Given the description of an element on the screen output the (x, y) to click on. 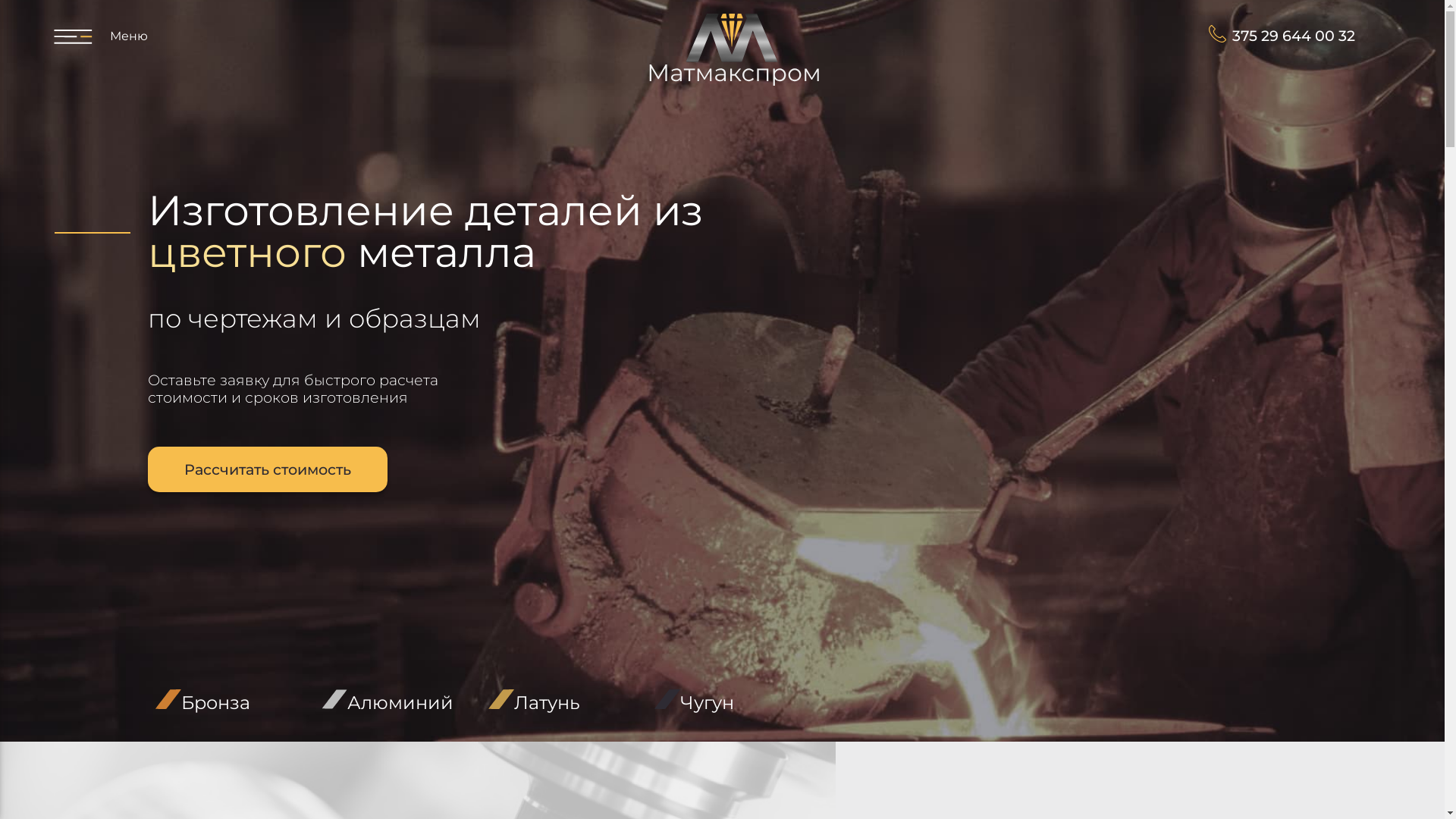
375 29 644 00 32 Element type: text (1281, 36)
